Given the description of an element on the screen output the (x, y) to click on. 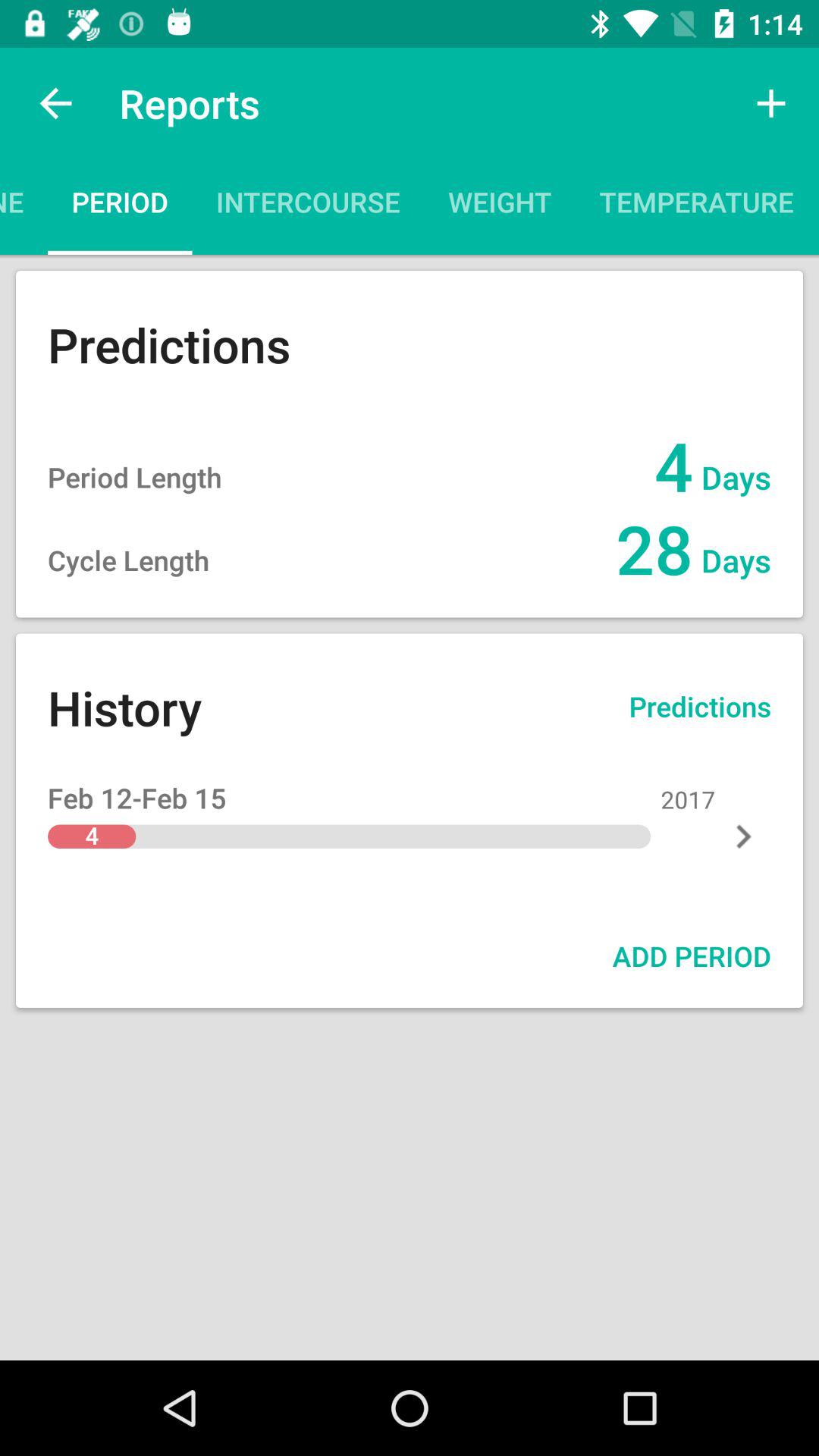
turn on add period (691, 955)
